Given the description of an element on the screen output the (x, y) to click on. 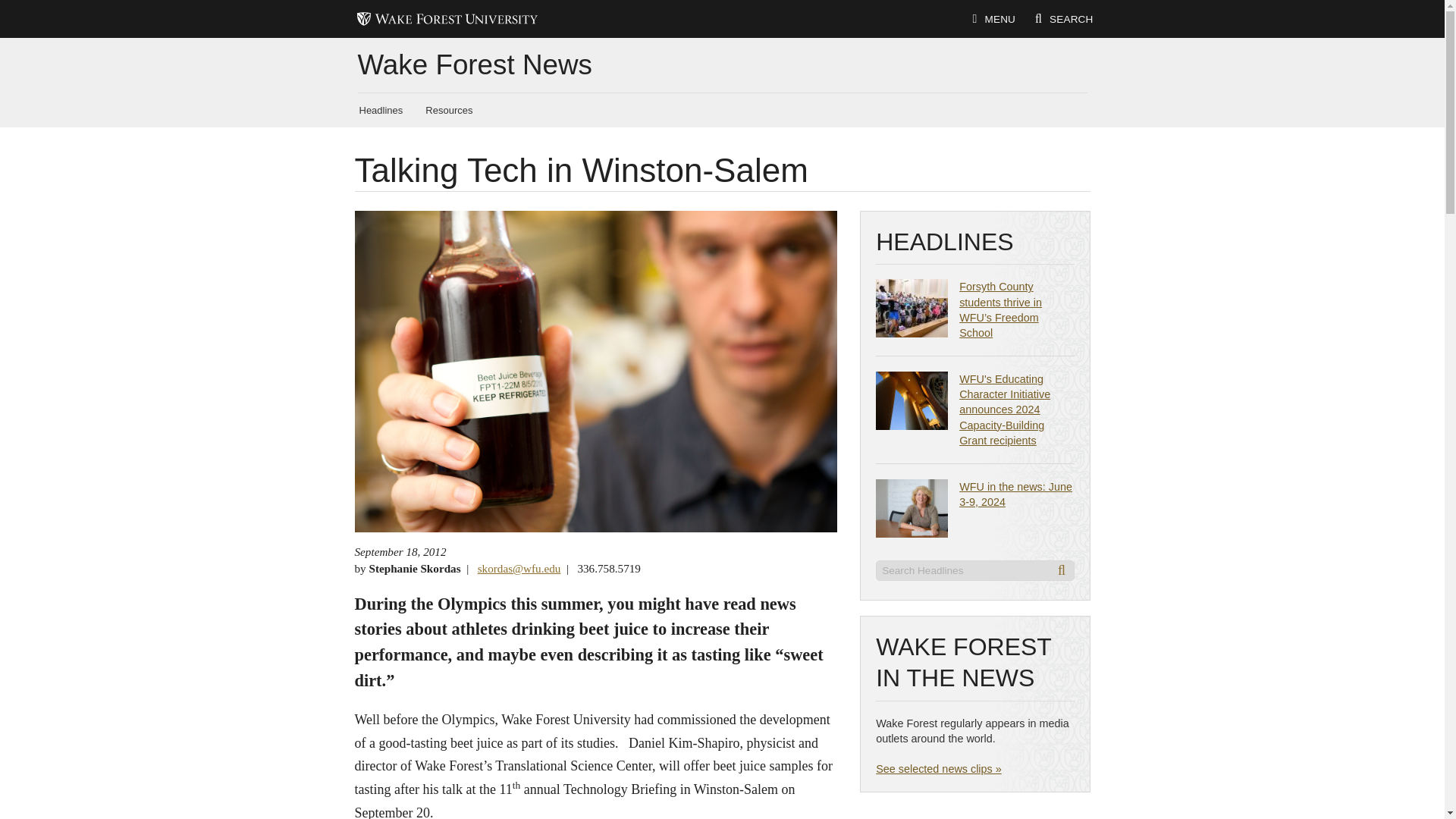
MENU (993, 19)
